Given the description of an element on the screen output the (x, y) to click on. 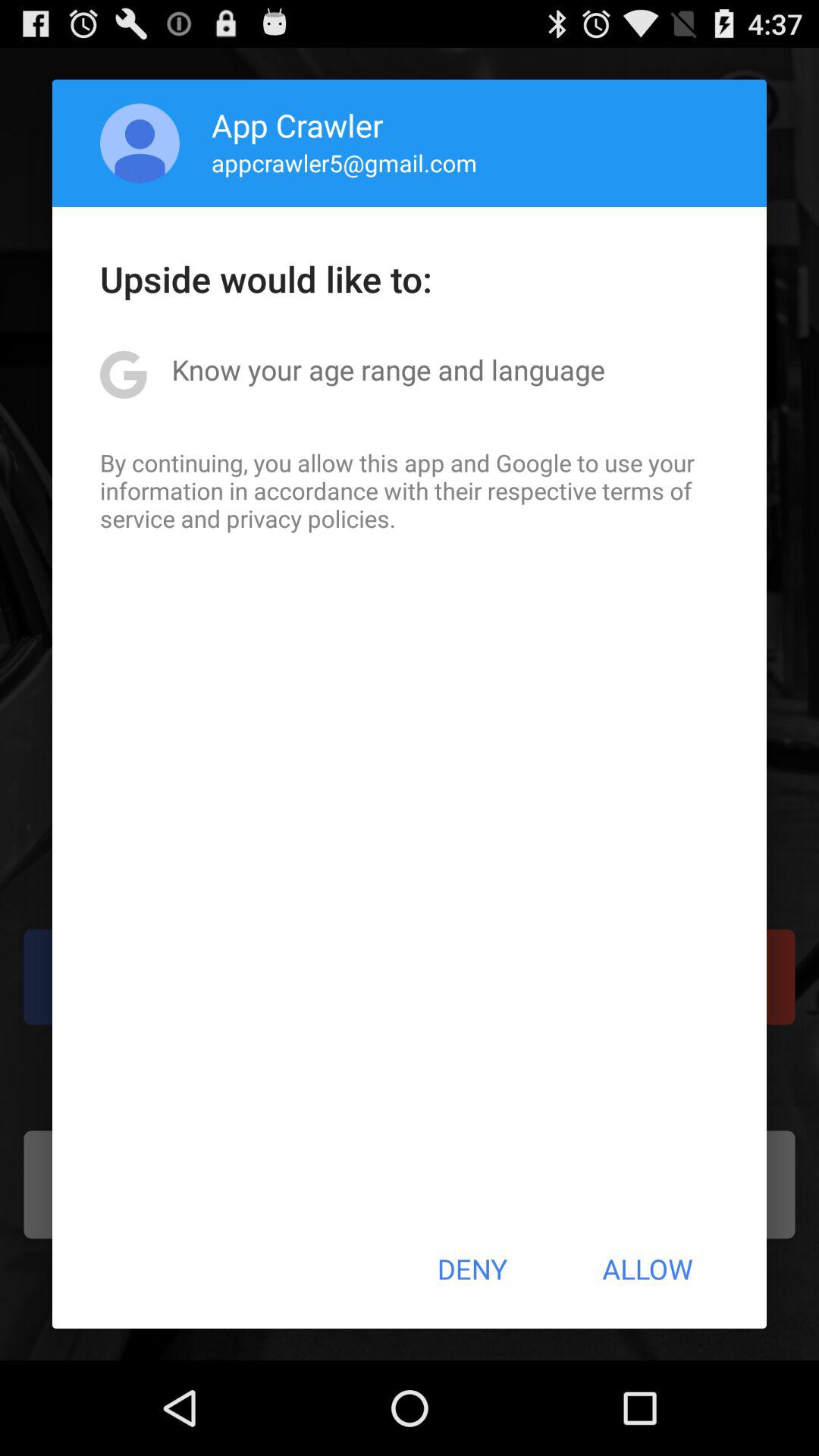
scroll to the app crawler item (297, 124)
